Given the description of an element on the screen output the (x, y) to click on. 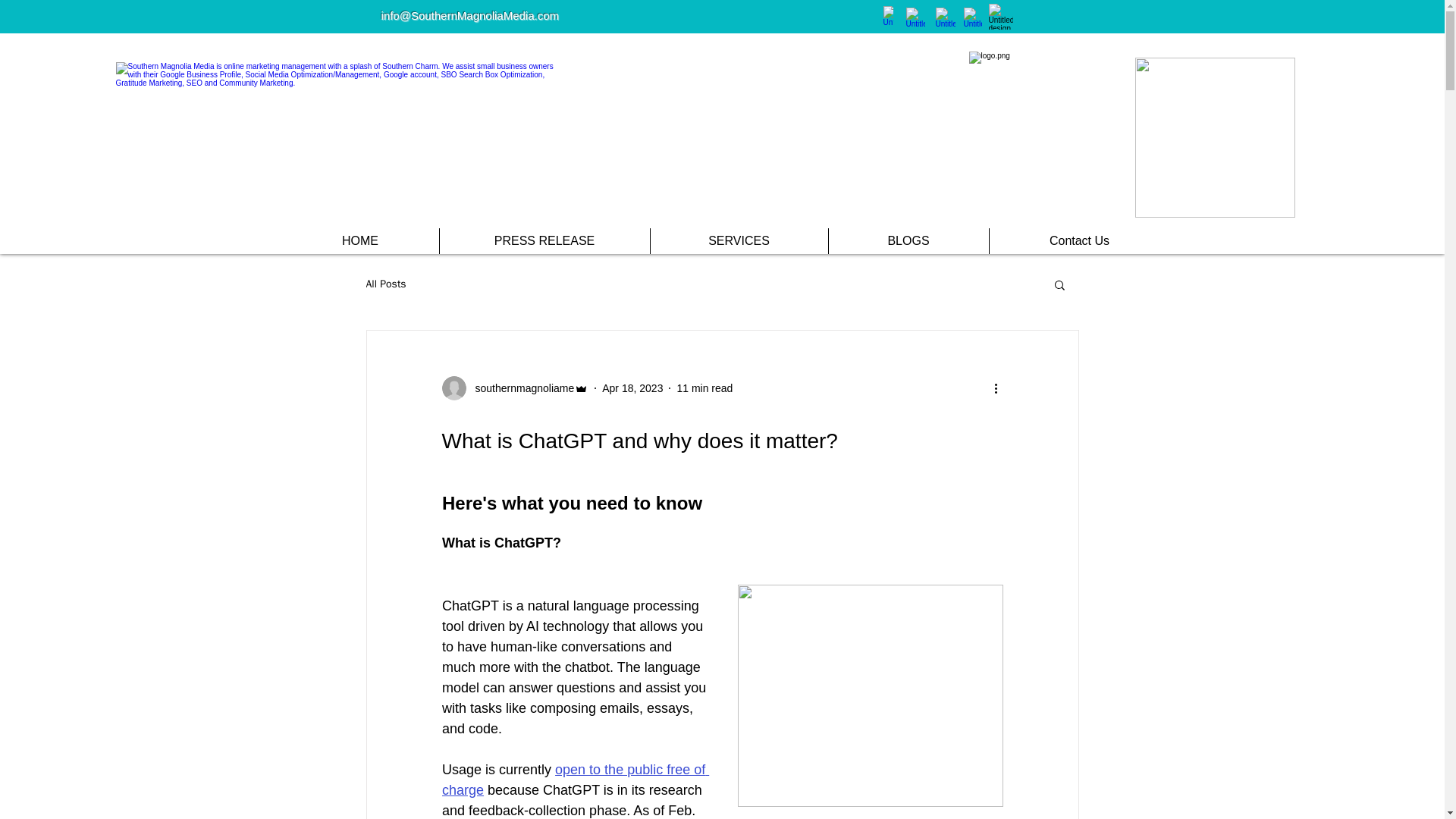
SERVICES (738, 240)
All Posts (385, 284)
southernmagnoliame (519, 388)
PRESS RELEASE (543, 240)
open to the public free of charge (574, 779)
11 min read (704, 387)
Contact Us (1079, 240)
BLOGS (908, 240)
HOME (360, 240)
